Given the description of an element on the screen output the (x, y) to click on. 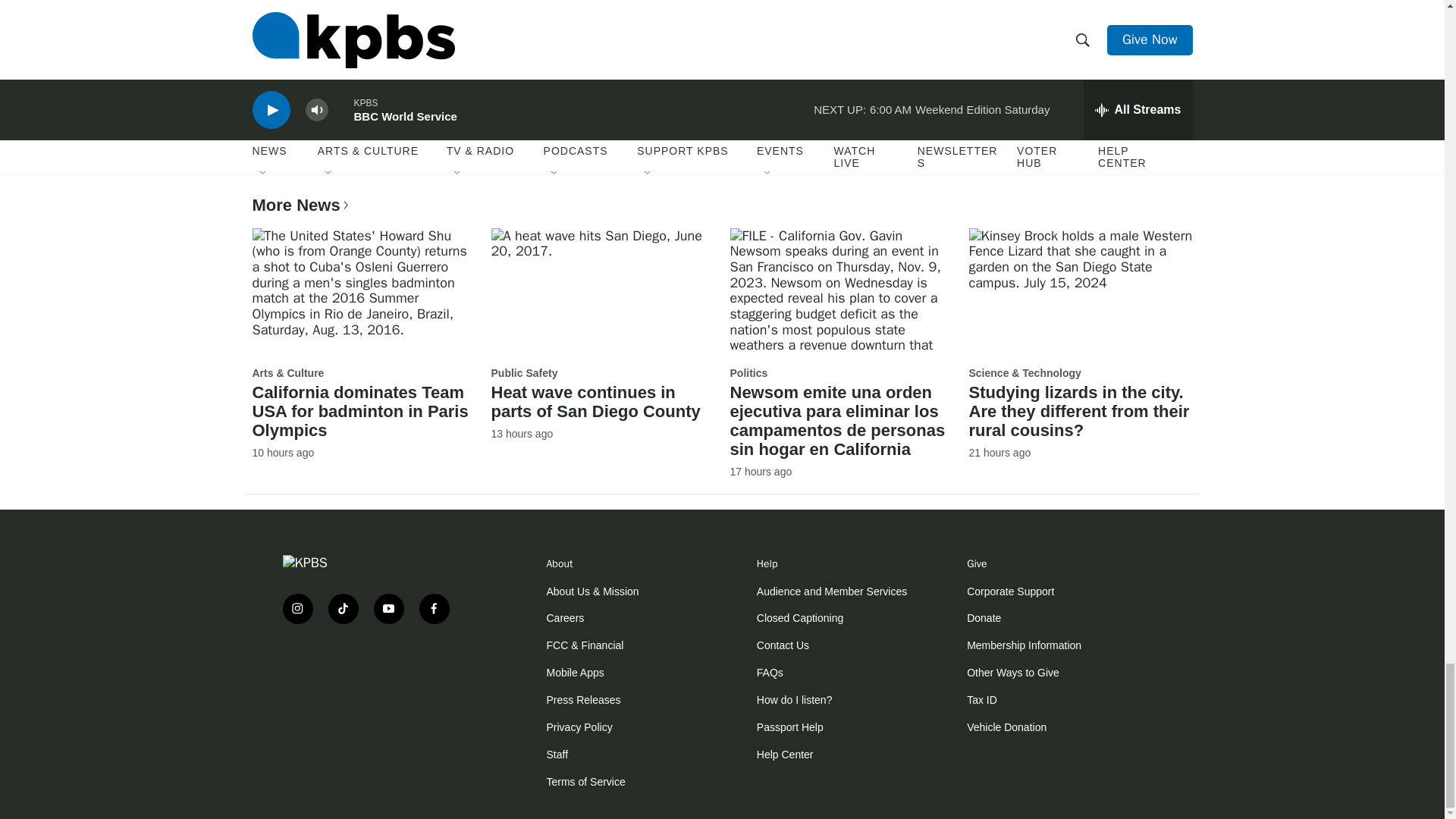
3rd party ad content (373, 684)
